Given the description of an element on the screen output the (x, y) to click on. 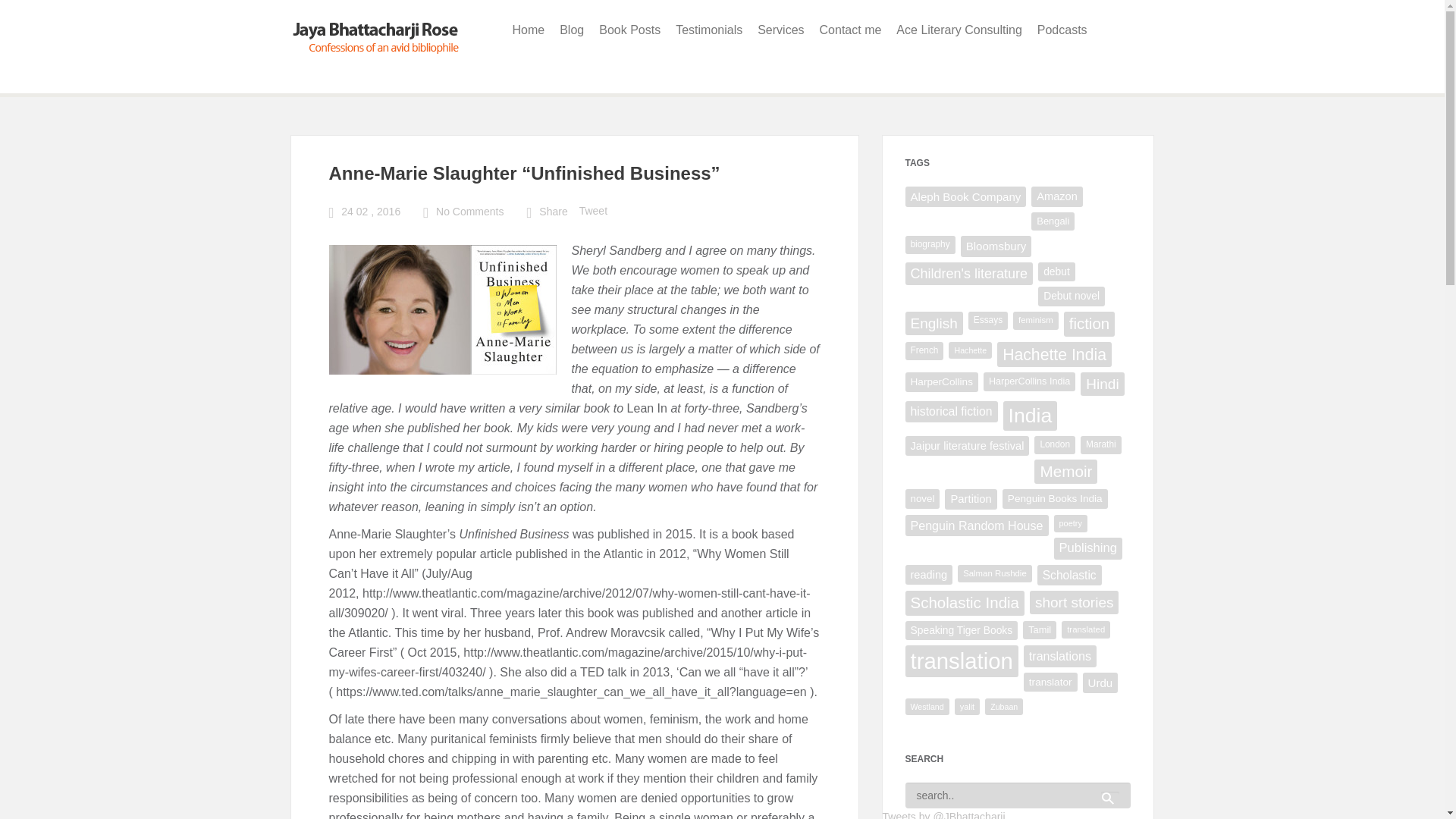
Share (552, 211)
Tweet (593, 210)
Contact me (850, 30)
Book Posts (629, 30)
24 02 , 2016 (370, 211)
Ace Literary Consulting (958, 30)
Home (529, 30)
Podcasts (1061, 30)
Blog (571, 30)
Testimonials (708, 30)
